Given the description of an element on the screen output the (x, y) to click on. 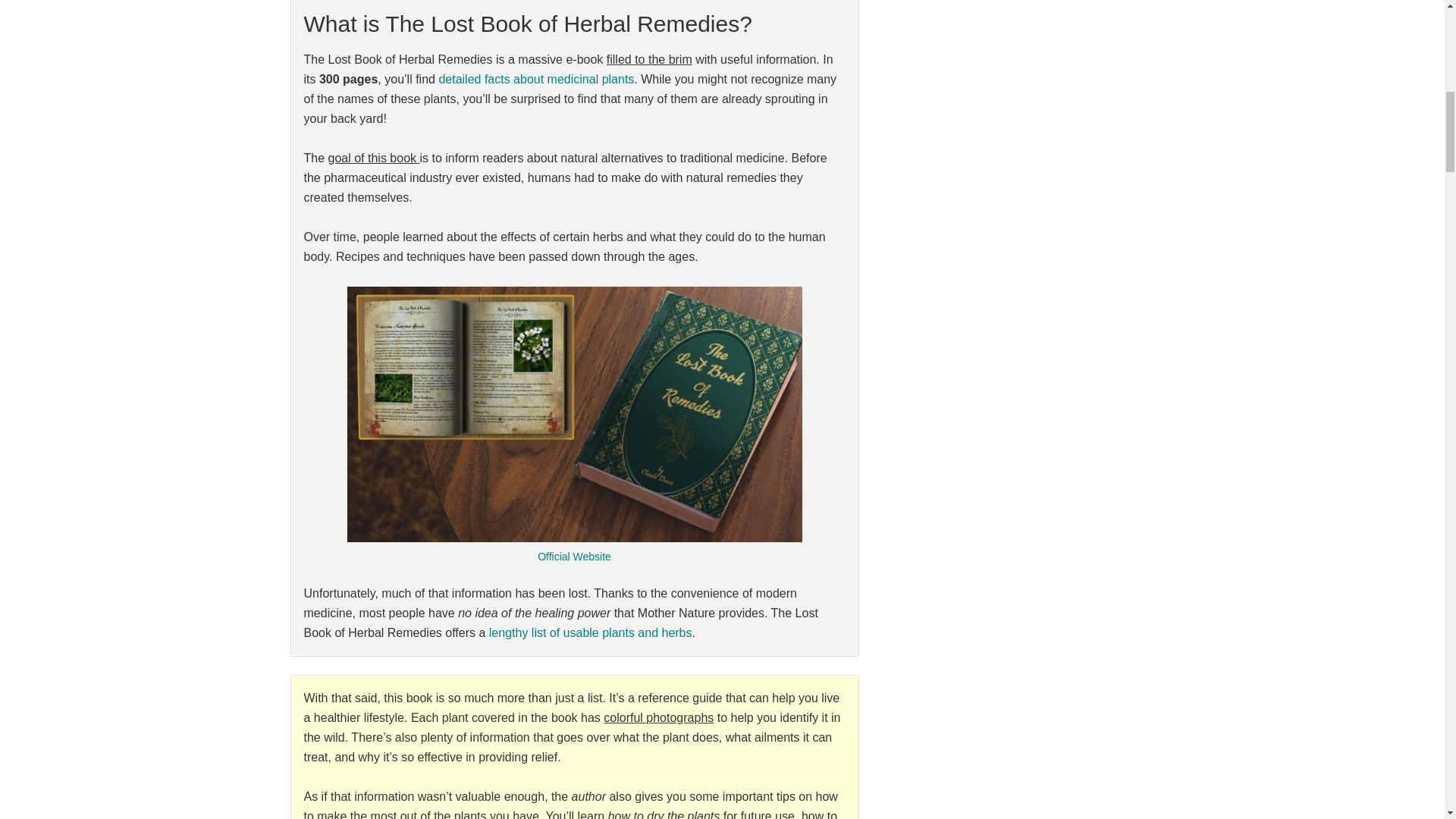
Official Website (574, 556)
lengthy list of usable plants and herbs (591, 632)
detailed facts about medicinal plants (535, 78)
